Given the description of an element on the screen output the (x, y) to click on. 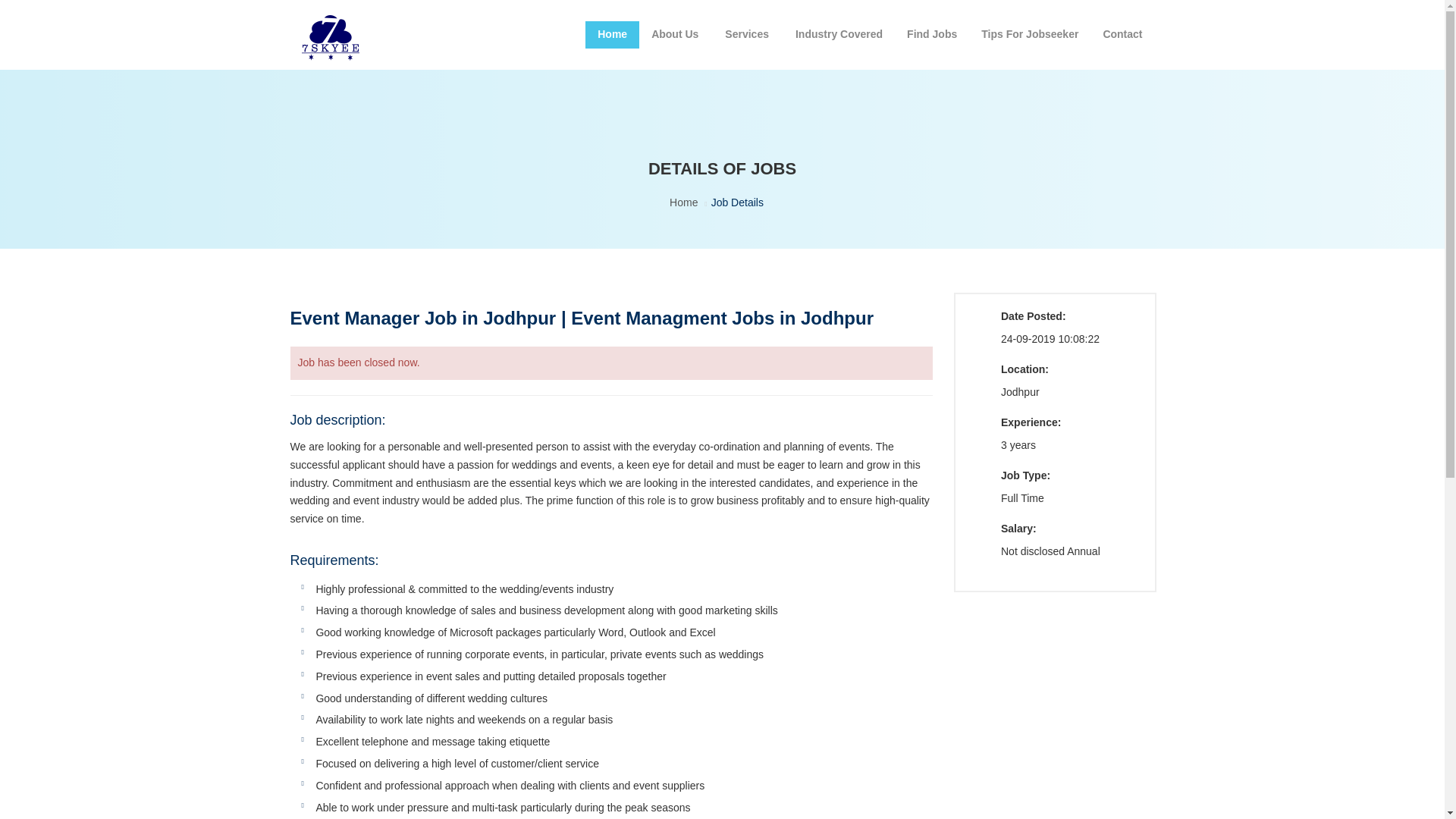
Home (612, 34)
Find Jobs (932, 34)
Contact (1122, 34)
Services (748, 34)
Tips For Jobseeker (1029, 34)
About Us (676, 34)
Industry Covered (839, 34)
Home (683, 202)
